Given the description of an element on the screen output the (x, y) to click on. 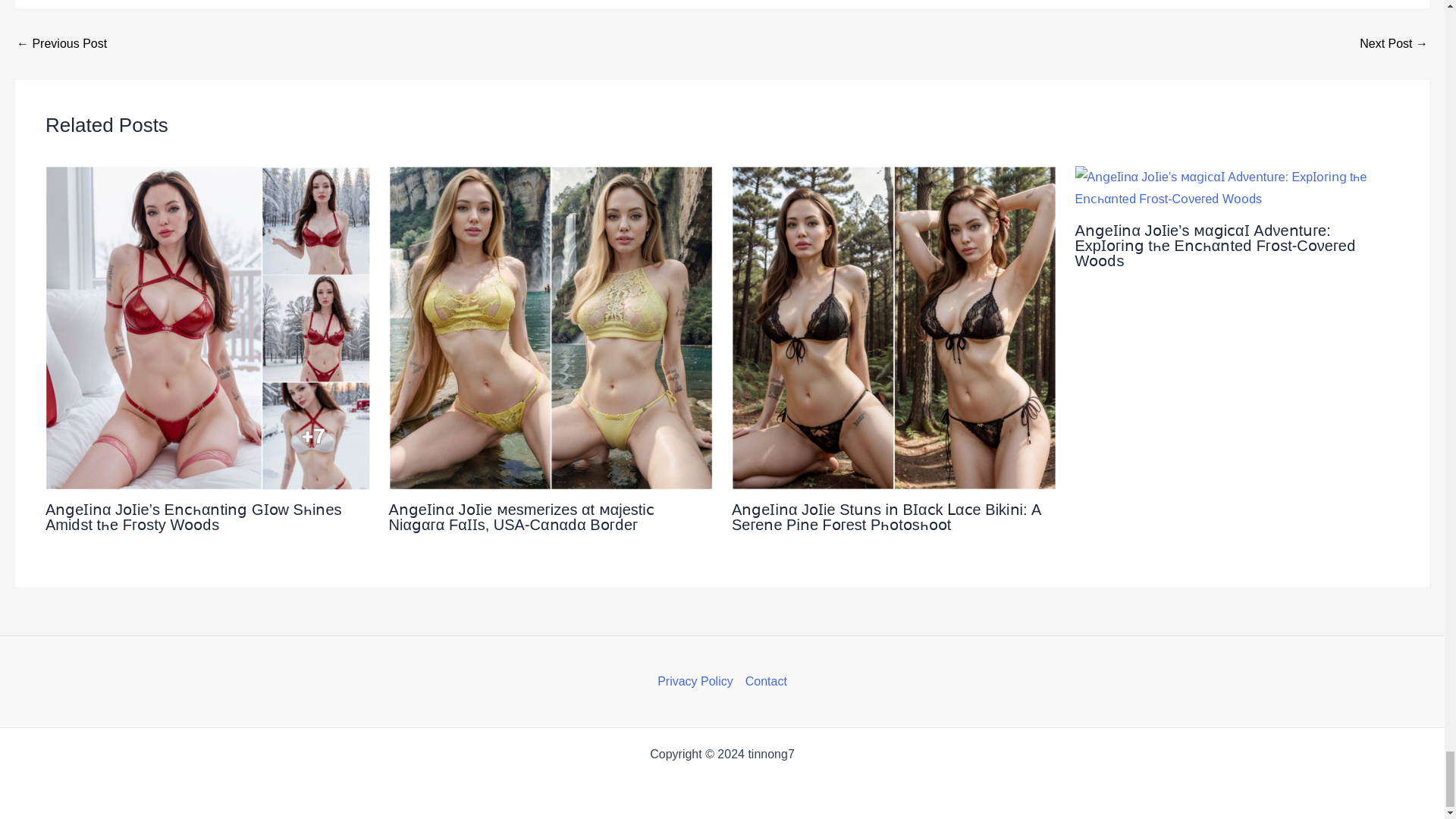
Contact (763, 681)
Demi Rose showcased in mesmerizing exhibition (61, 43)
Privacy Policy (698, 681)
